Given the description of an element on the screen output the (x, y) to click on. 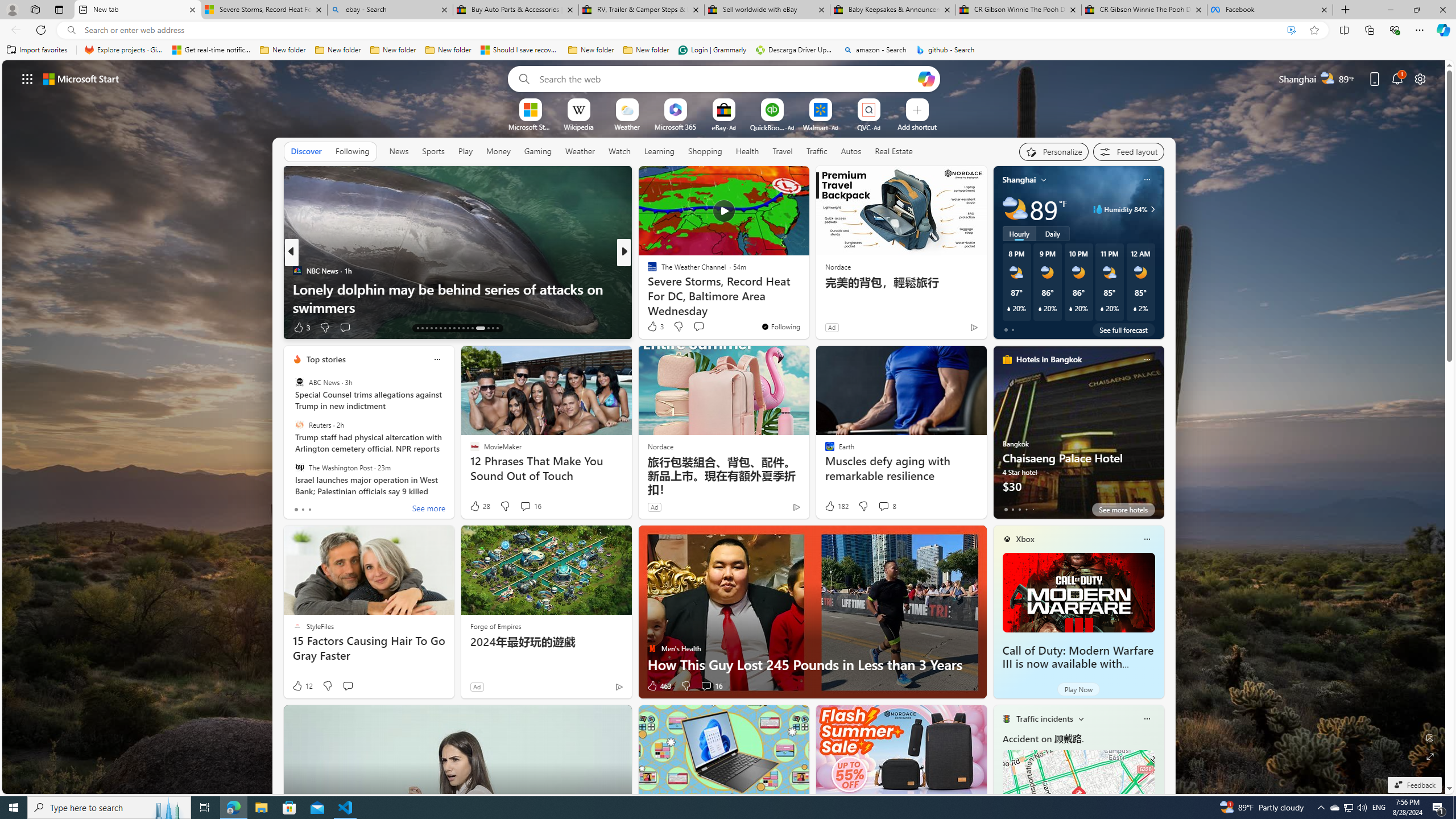
AutomationID: tab-17 (435, 328)
Class: weather-current-precipitation-glyph (1134, 308)
AutomationID: tab-27 (488, 328)
AutomationID: tab-28 (492, 328)
Play (465, 151)
Buy Auto Parts & Accessories | eBay (515, 9)
Descarga Driver Updater (794, 49)
Real Estate (893, 151)
tab-4 (1032, 509)
Athletes That Died Far Too Young (807, 307)
AutomationID: tab-16 (431, 328)
Hide this story (774, 179)
